Given the description of an element on the screen output the (x, y) to click on. 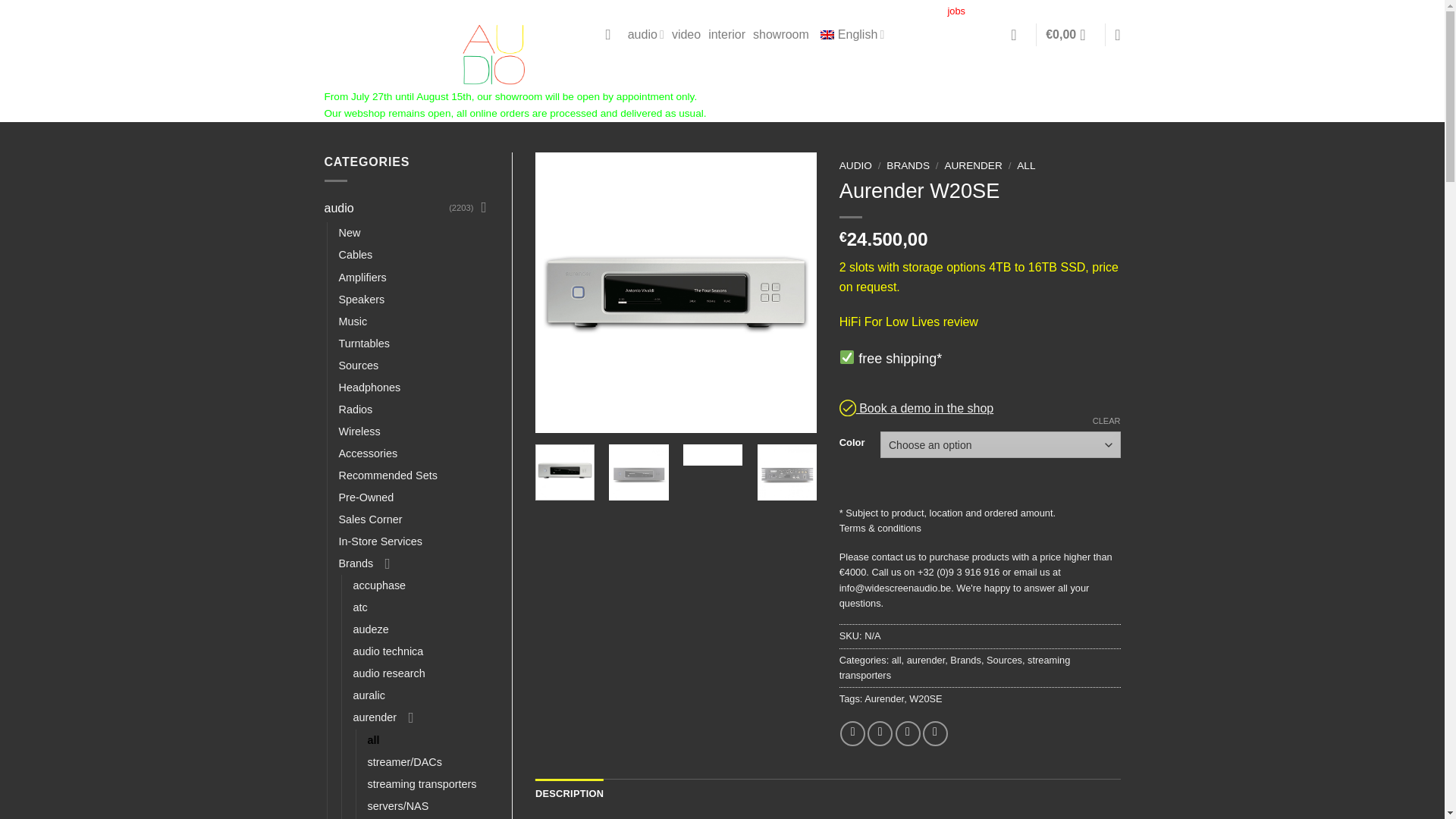
contact (920, 11)
Zoom (558, 410)
Basket (1069, 34)
news (828, 11)
audio (645, 34)
English (827, 34)
terms (987, 11)
Amplifiers (361, 277)
English (850, 34)
interior (726, 34)
New (348, 232)
privacy (1026, 11)
Cables (354, 255)
events (791, 11)
audio (386, 208)
